Given the description of an element on the screen output the (x, y) to click on. 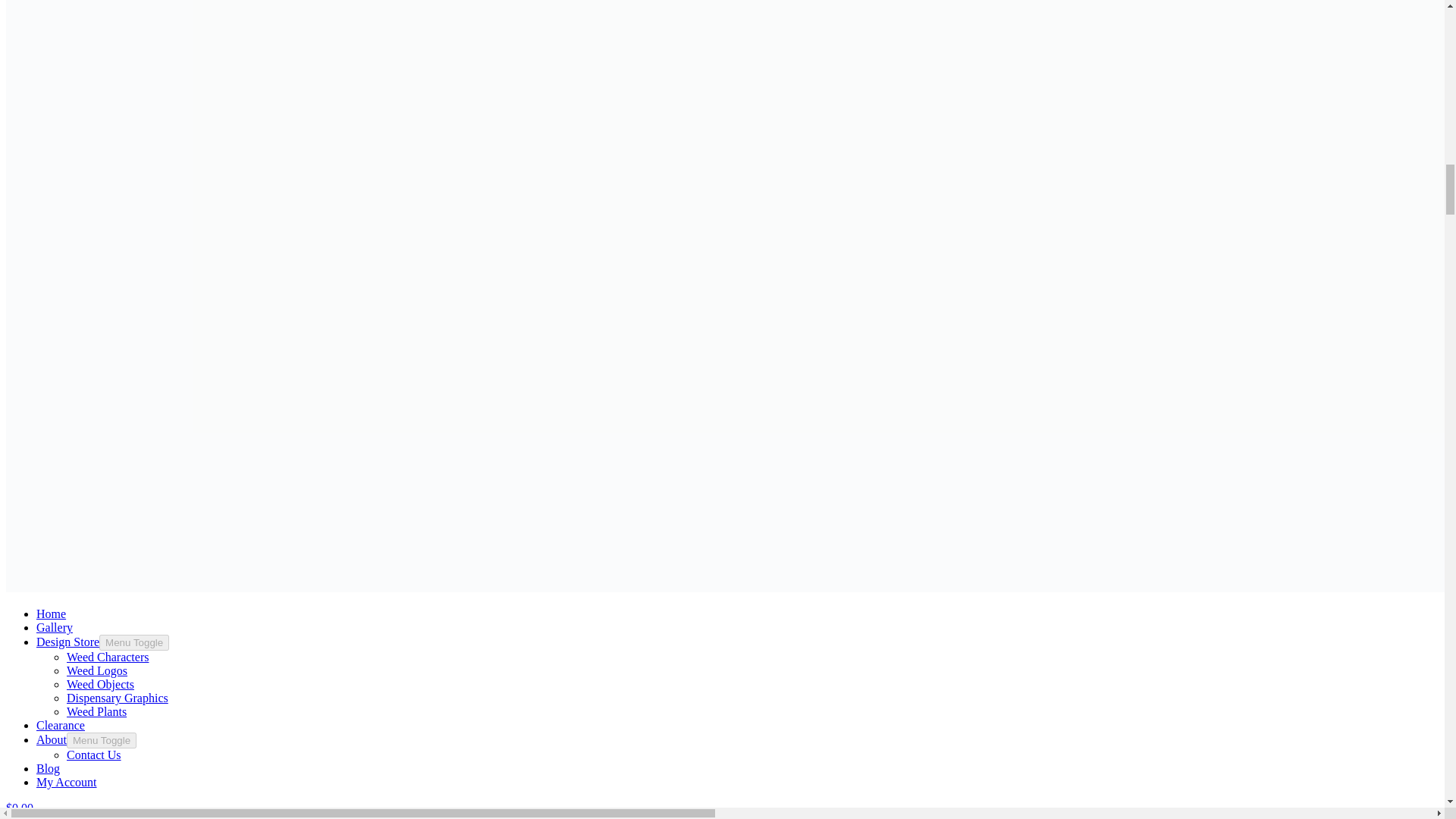
About (51, 739)
Menu Toggle (101, 740)
Menu Toggle (133, 642)
Gallery (54, 626)
Design Store (67, 641)
Weed Logos (97, 670)
Weed Objects (99, 684)
My Account (66, 781)
Contact Us (93, 754)
Clearance (60, 725)
